Given the description of an element on the screen output the (x, y) to click on. 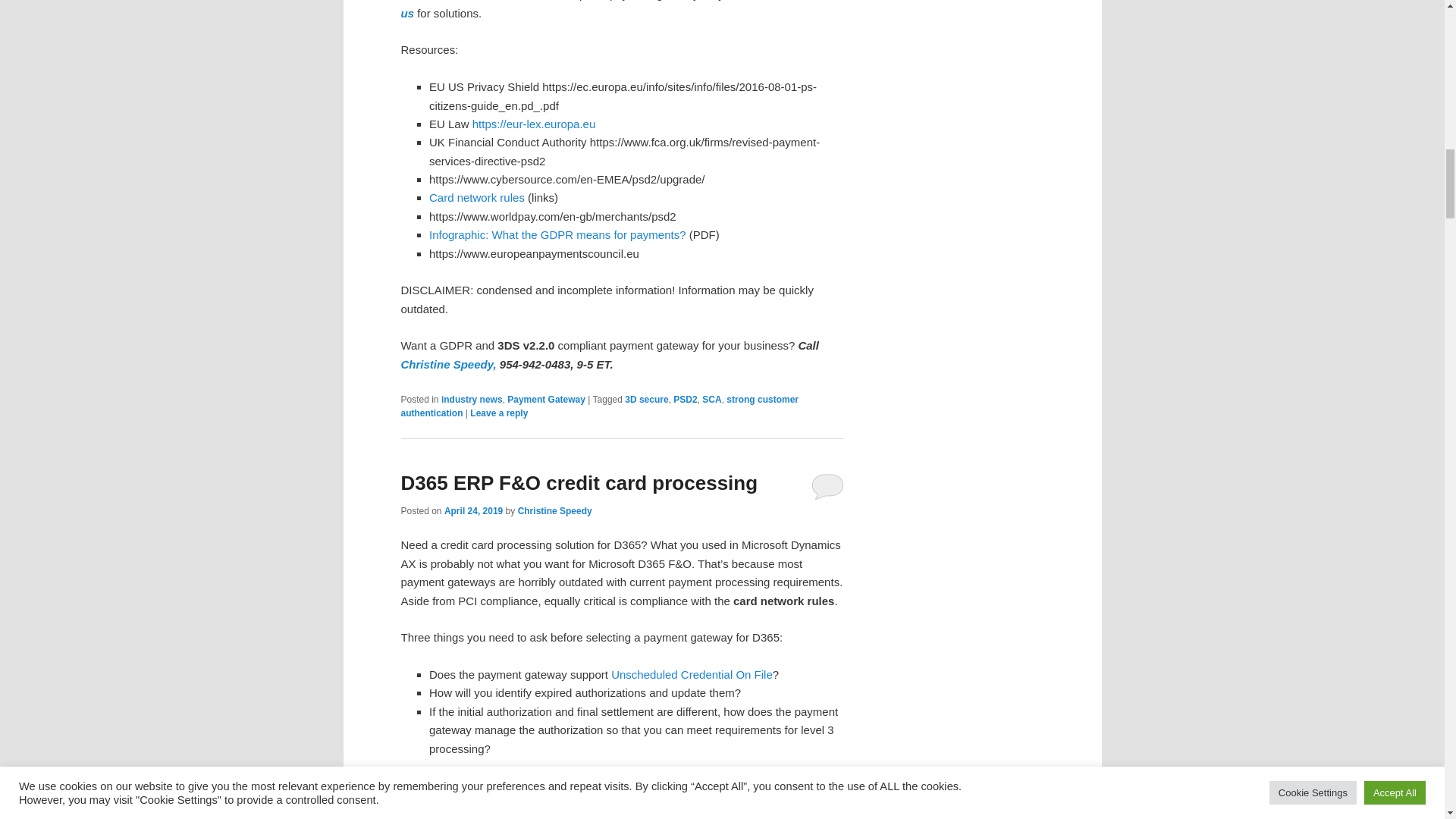
View all posts by Christine Speedy (555, 511)
10:42 am (473, 511)
industry news (471, 398)
Leave a reply (498, 412)
Card network rules (476, 196)
Christine Speedy (555, 511)
Contact us (620, 9)
Christine Speedy, (449, 364)
Payment Gateway (545, 398)
3D secure (646, 398)
